Given the description of an element on the screen output the (x, y) to click on. 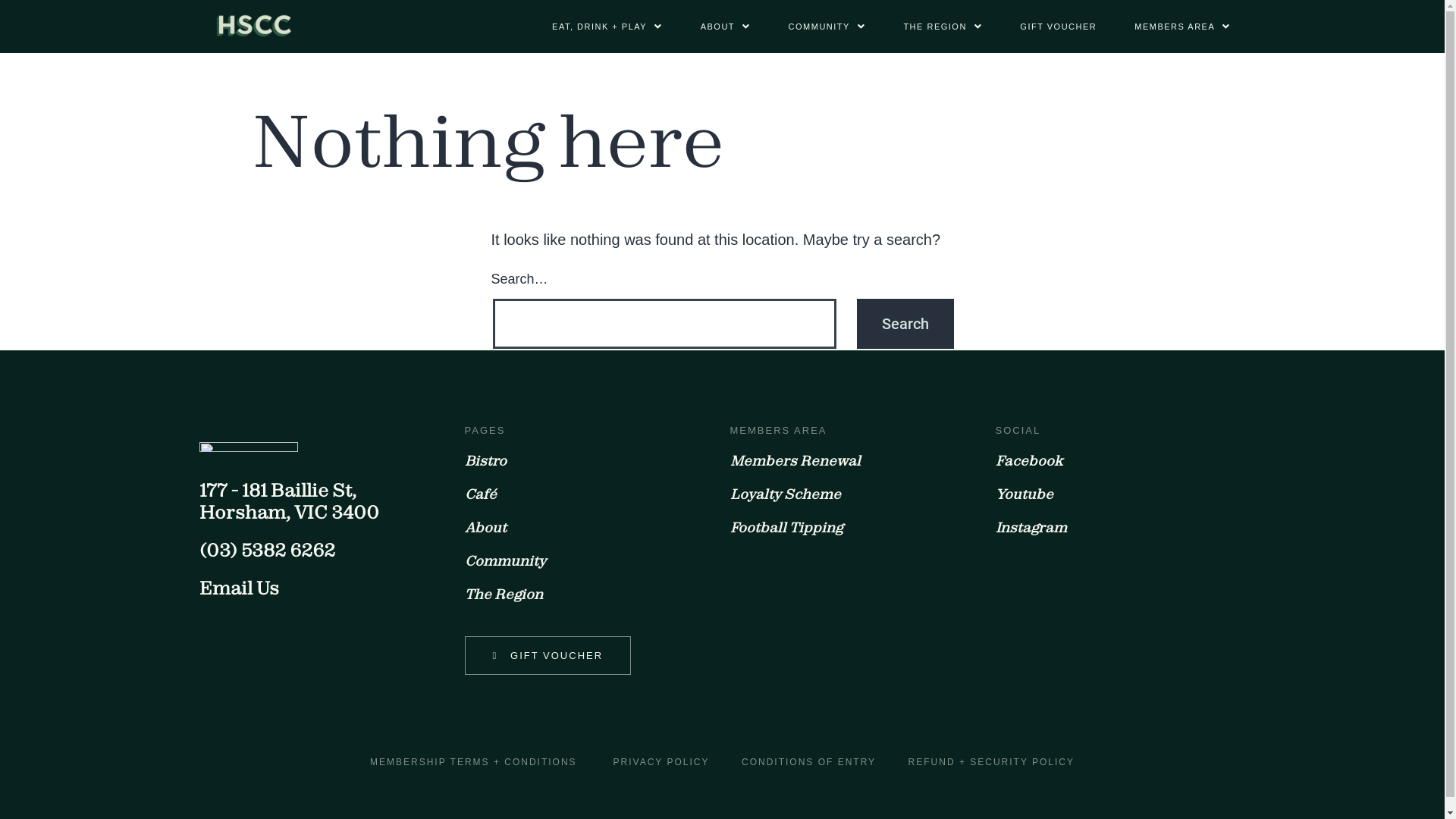
PRIVACY POLICY Element type: text (661, 761)
The Region Element type: text (503, 593)
EAT, DRINK + PLAY Element type: text (607, 25)
ABOUT Element type: text (725, 25)
Community Element type: text (504, 560)
REFUND + SECURITY POLICY Element type: text (991, 761)
Members Renewal Element type: text (794, 460)
Facebook Element type: text (1027, 460)
Bistro Element type: text (484, 460)
Search Element type: text (904, 323)
About Element type: text (484, 527)
Instagram Element type: text (1030, 527)
Youtube Element type: text (1023, 493)
COMMUNITY Element type: text (827, 25)
MEMBERS AREA Element type: text (1182, 25)
(03) 5382 6262 Element type: text (266, 549)
MEMBERSHIP TERMS + CONDITIONS Element type: text (473, 761)
Loyalty Scheme Element type: text (784, 493)
Football Tipping Element type: text (785, 527)
177 - 181 Baillie St,
Horsham, VIC 3400 Element type: text (288, 500)
Email Us Element type: text (238, 587)
GIFT VOUCHER Element type: text (1057, 25)
THE REGION Element type: text (942, 25)
CONDITIONS OF ENTRY Element type: text (808, 761)
